Given the description of an element on the screen output the (x, y) to click on. 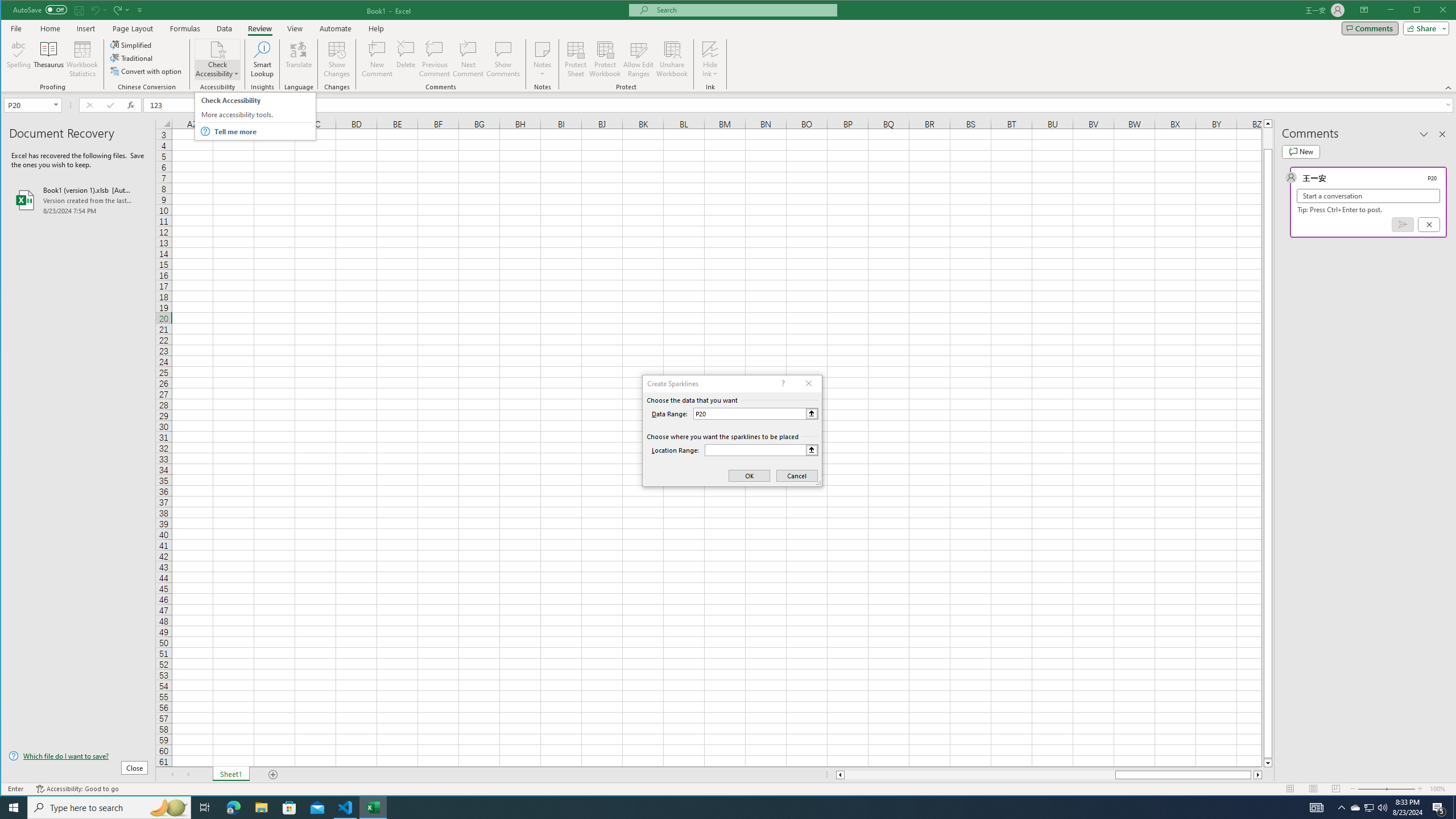
Allow Edit Ranges (638, 59)
Cancel (1428, 224)
Unshare Workbook (671, 59)
Thesaurus... (48, 59)
